Given the description of an element on the screen output the (x, y) to click on. 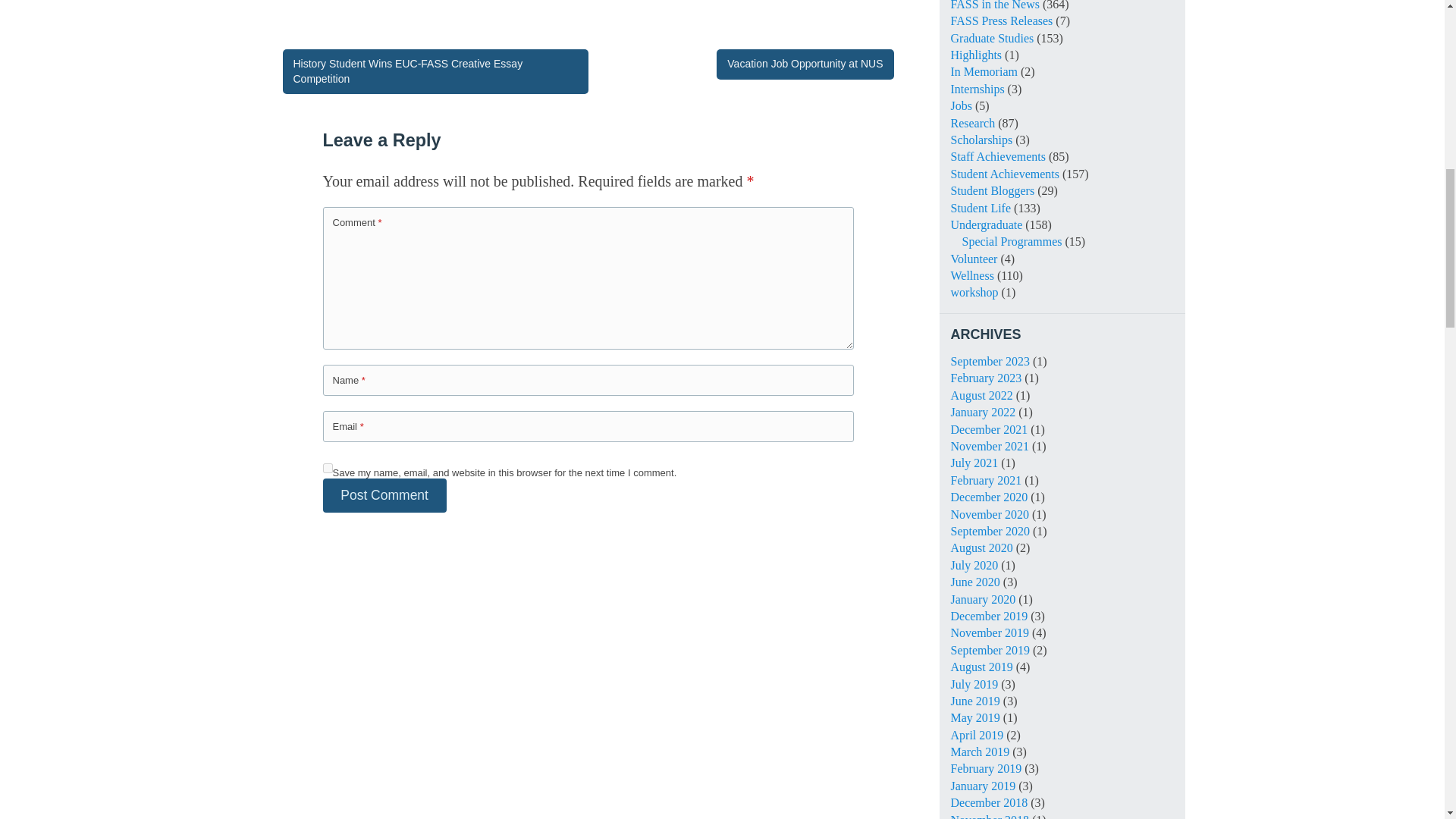
FASS Press Releases (1001, 20)
Vacation Job Opportunity at NUS (804, 63)
In Memoriam (983, 71)
Post Comment (384, 495)
History Student Wins EUC-FASS Creative Essay Competition (435, 71)
yes (328, 468)
Highlights (976, 54)
Graduate Studies (991, 38)
FASS in the News (995, 5)
Post Comment (384, 495)
